Given the description of an element on the screen output the (x, y) to click on. 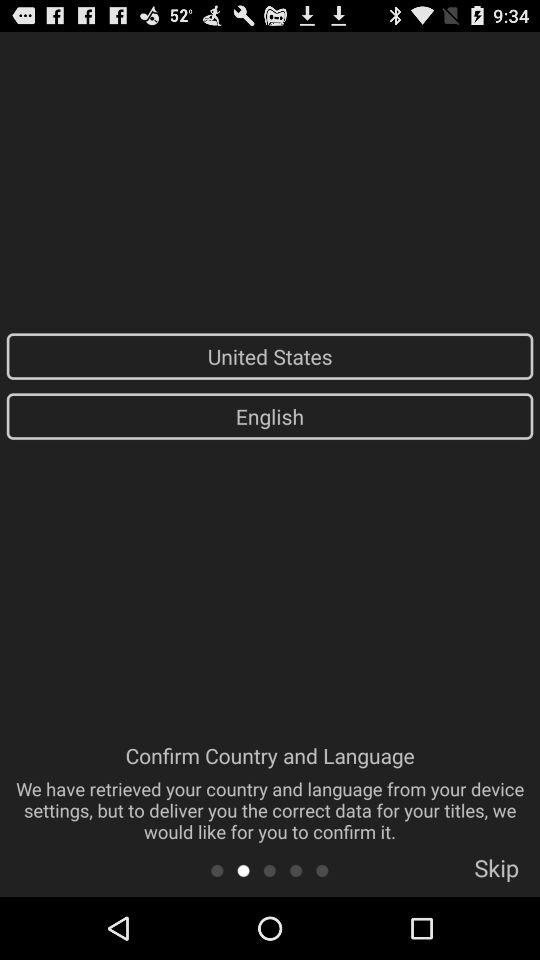
launch app above confirm country and app (269, 416)
